Given the description of an element on the screen output the (x, y) to click on. 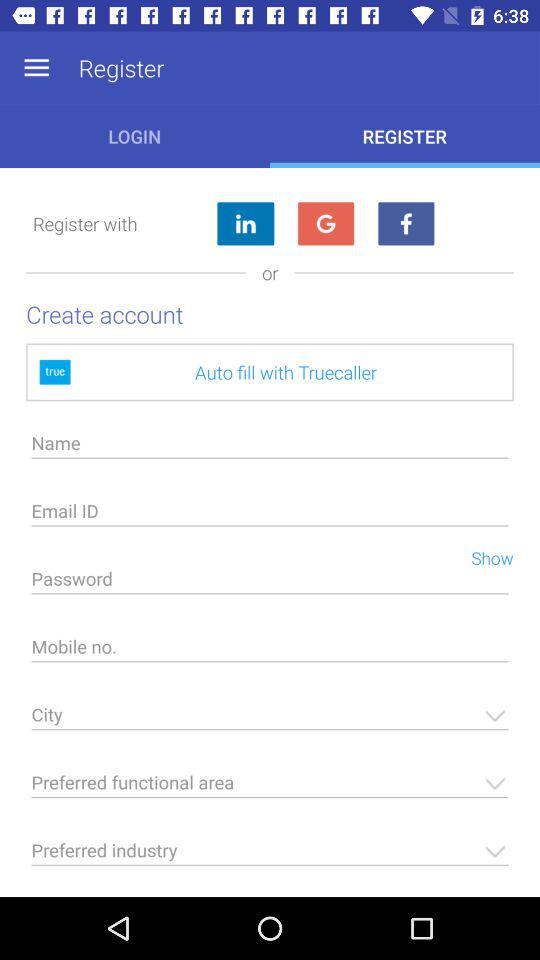
mobile number field (269, 652)
